Given the description of an element on the screen output the (x, y) to click on. 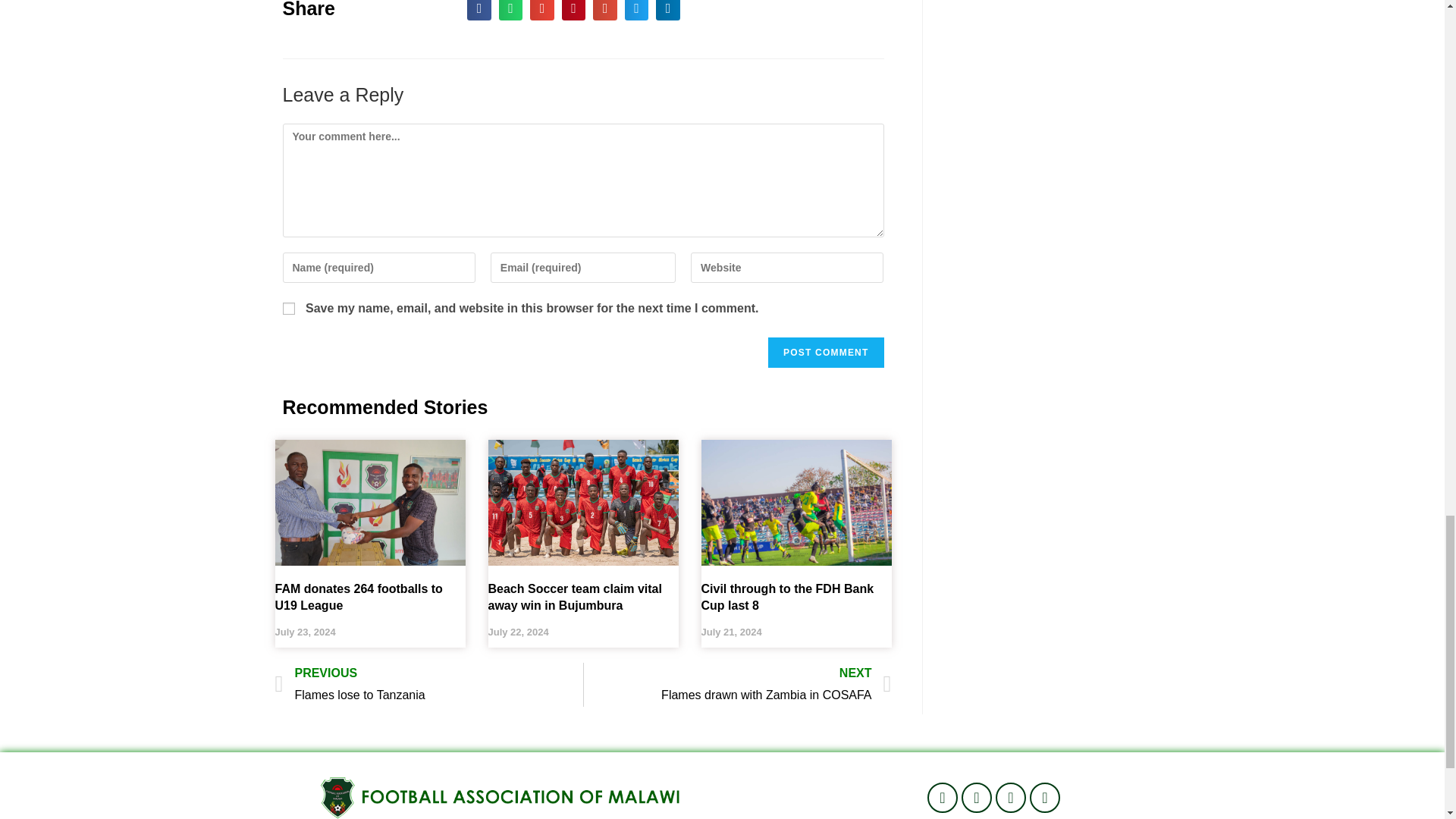
Post Comment (825, 352)
yes (288, 308)
